Given the description of an element on the screen output the (x, y) to click on. 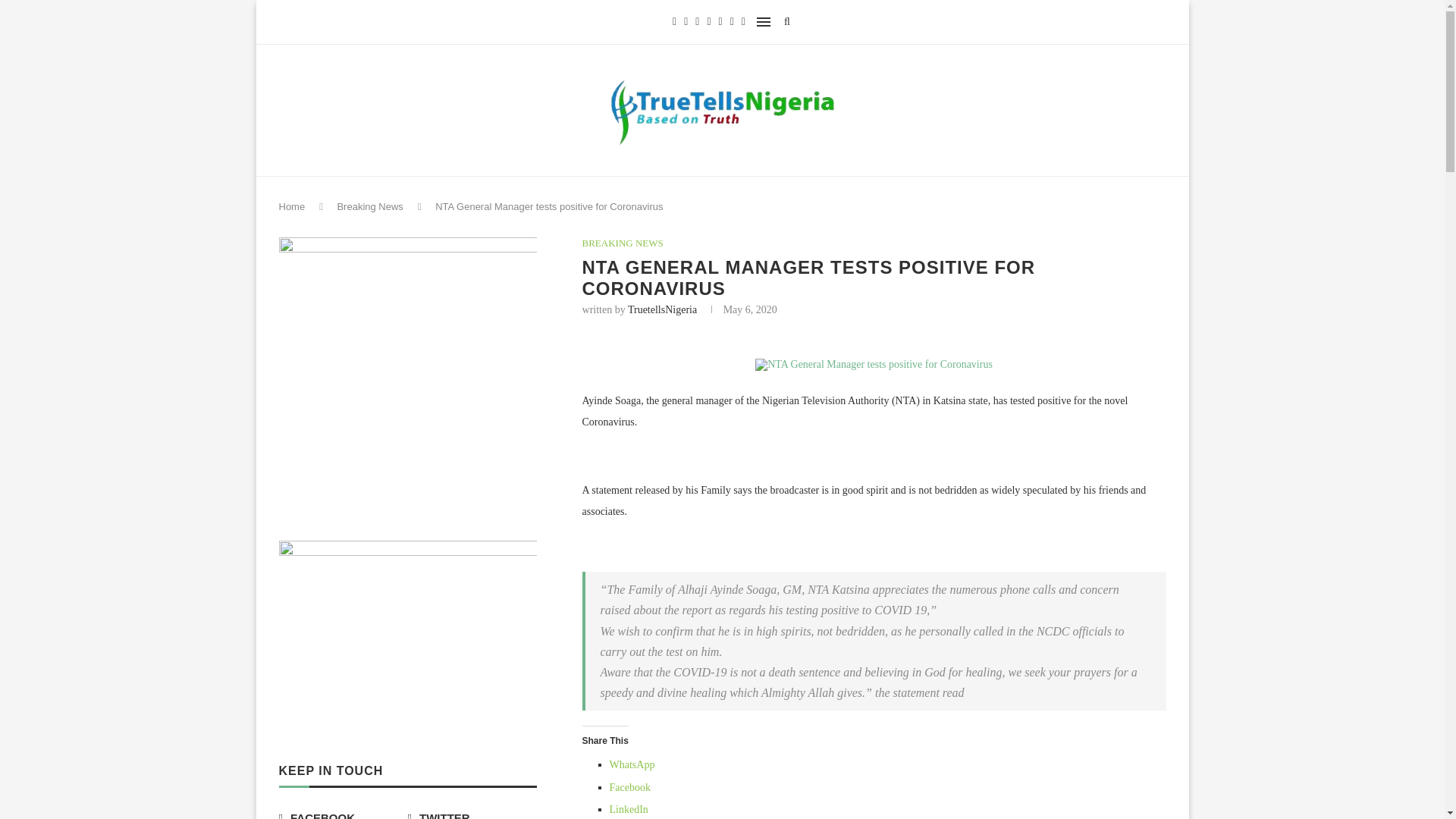
59448CE1-74D5-44A6-A89B-6D7CC2EEC937 (873, 364)
TruetellsNigeria (662, 309)
LinkedIn (628, 808)
Click to share on WhatsApp (632, 764)
Breaking News (369, 206)
Click to share on Facebook (630, 786)
BREAKING NEWS (622, 243)
WhatsApp (632, 764)
Click to share on LinkedIn (628, 808)
Facebook (630, 786)
